Given the description of an element on the screen output the (x, y) to click on. 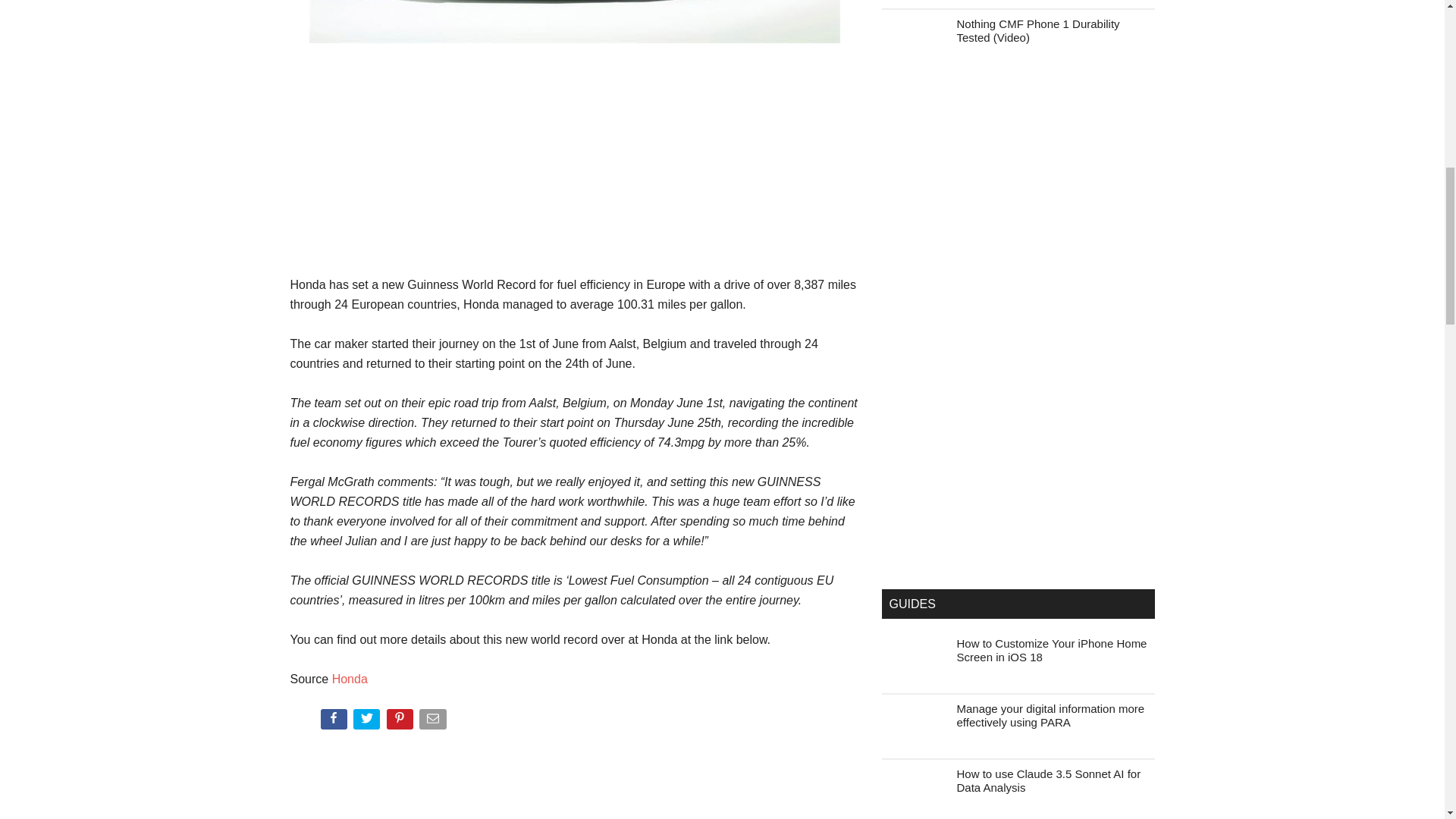
Honda (349, 678)
Email (433, 722)
Pin (401, 722)
Tweet (367, 722)
Share on Facebook (334, 722)
